Given the description of an element on the screen output the (x, y) to click on. 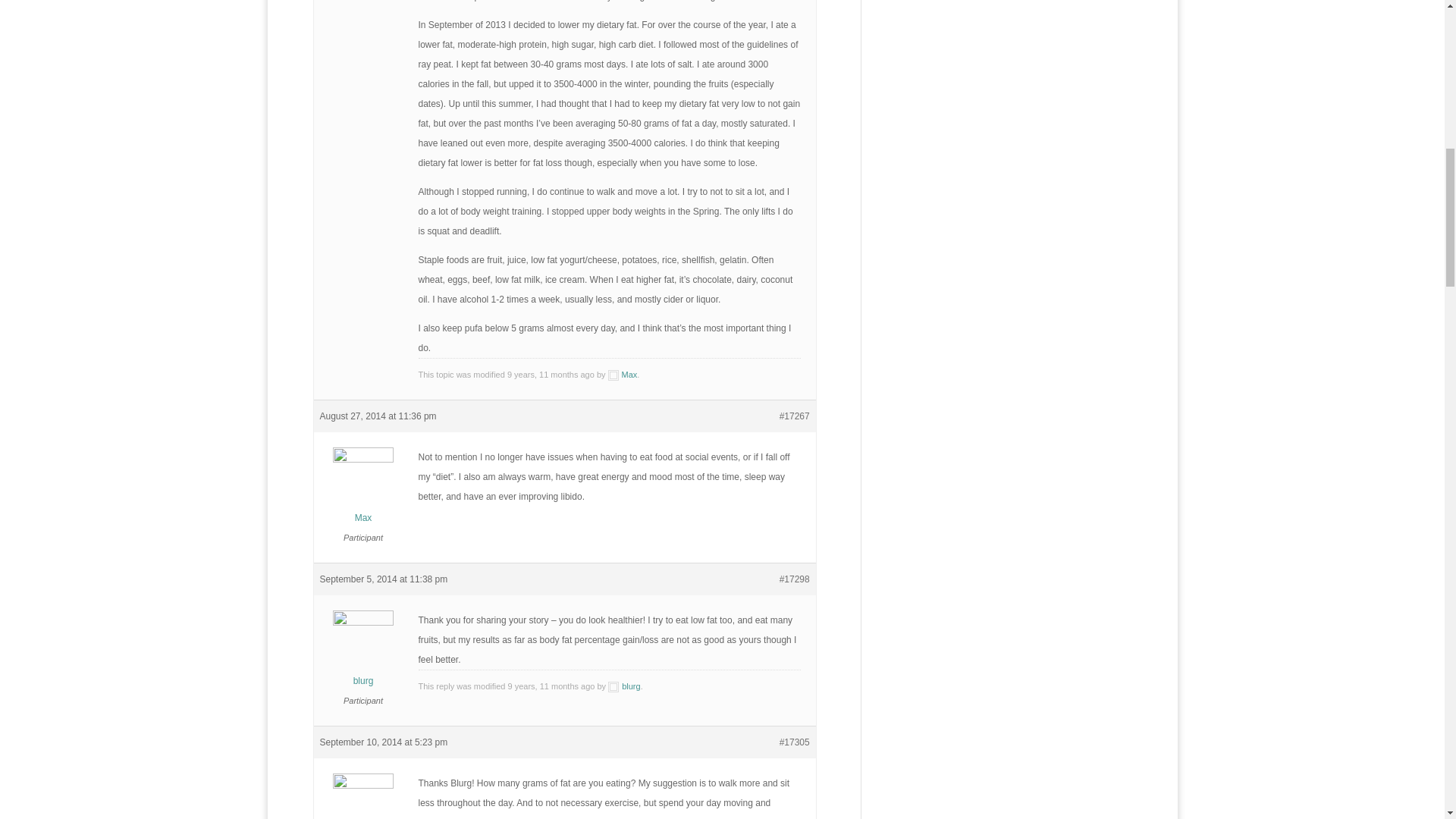
Max (622, 374)
Max (363, 490)
View Max's profile (622, 374)
View Max's profile (363, 799)
blurg (363, 654)
blurg (624, 686)
View blurg's profile (363, 654)
Max (363, 799)
View Max's profile (363, 490)
View blurg's profile (624, 686)
